Given the description of an element on the screen output the (x, y) to click on. 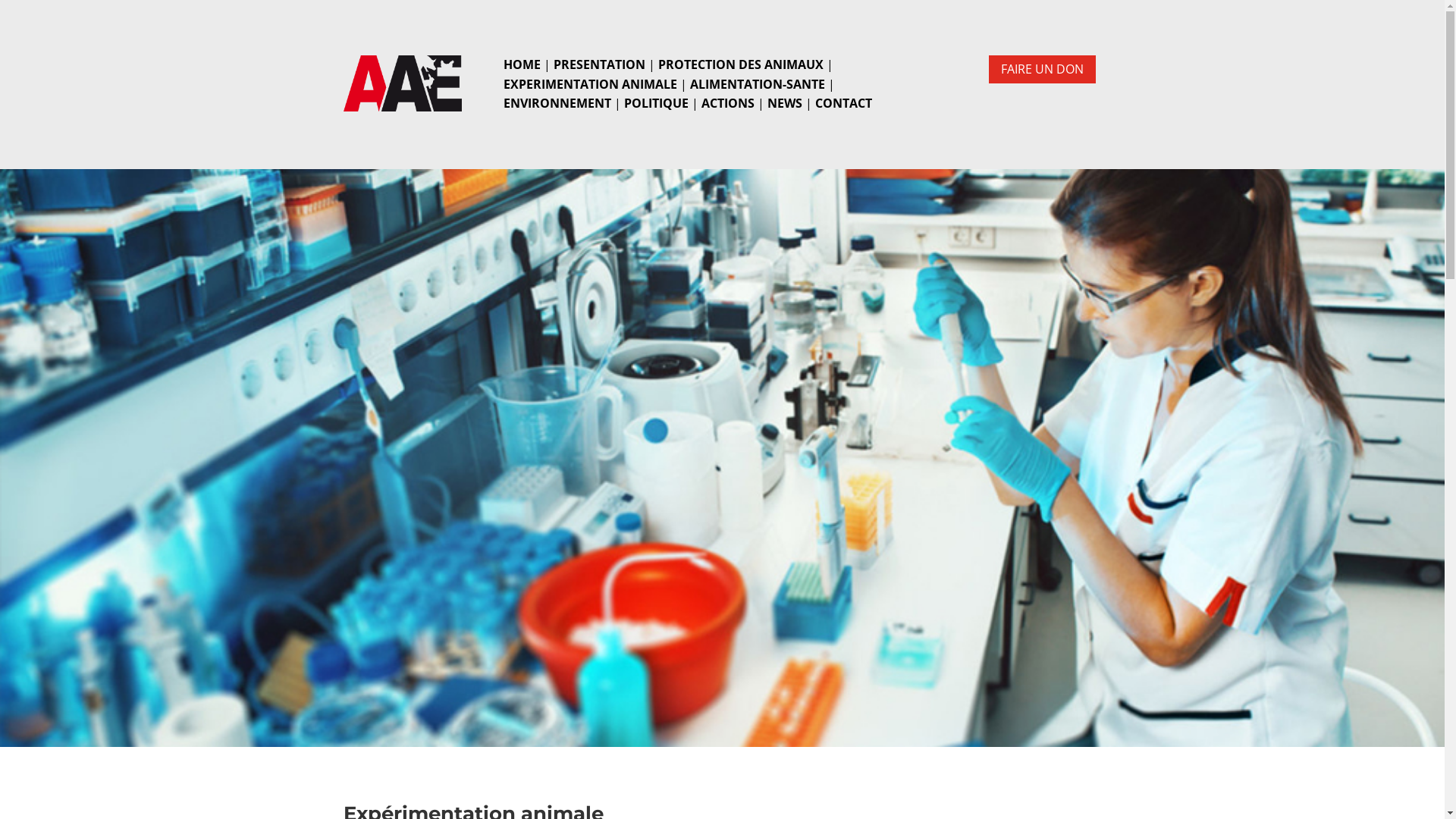
FAIRE UN DON Element type: text (1041, 69)
ALIMENTATION-SANTE Element type: text (757, 83)
logo-AAE-500x238 Element type: hover (402, 83)
HOME Element type: text (521, 64)
PROTECTION DES ANIMAUX Element type: text (740, 64)
CONTACT Element type: text (843, 102)
PRESENTATION Element type: text (599, 64)
ENVIRONNEMENT Element type: text (557, 102)
NEWS Element type: text (784, 102)
Experimentation-1000x400 Element type: hover (722, 457)
EXPERIMENTATION ANIMALE Element type: text (590, 83)
POLITIQUE Element type: text (656, 102)
ACTIONS Element type: text (727, 102)
